Given the description of an element on the screen output the (x, y) to click on. 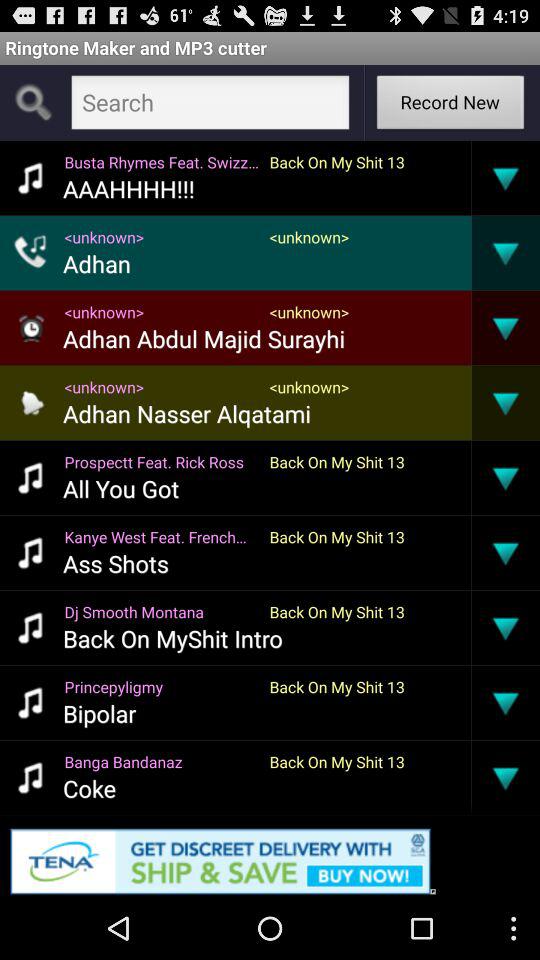
launch the aaahhhh!!! (128, 188)
